Given the description of an element on the screen output the (x, y) to click on. 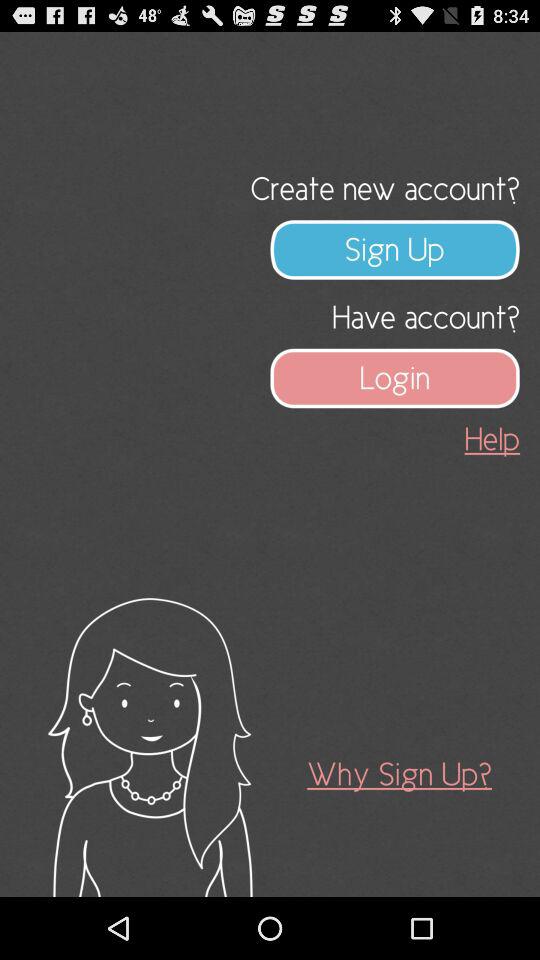
choose icon above why sign up? item (492, 438)
